Given the description of an element on the screen output the (x, y) to click on. 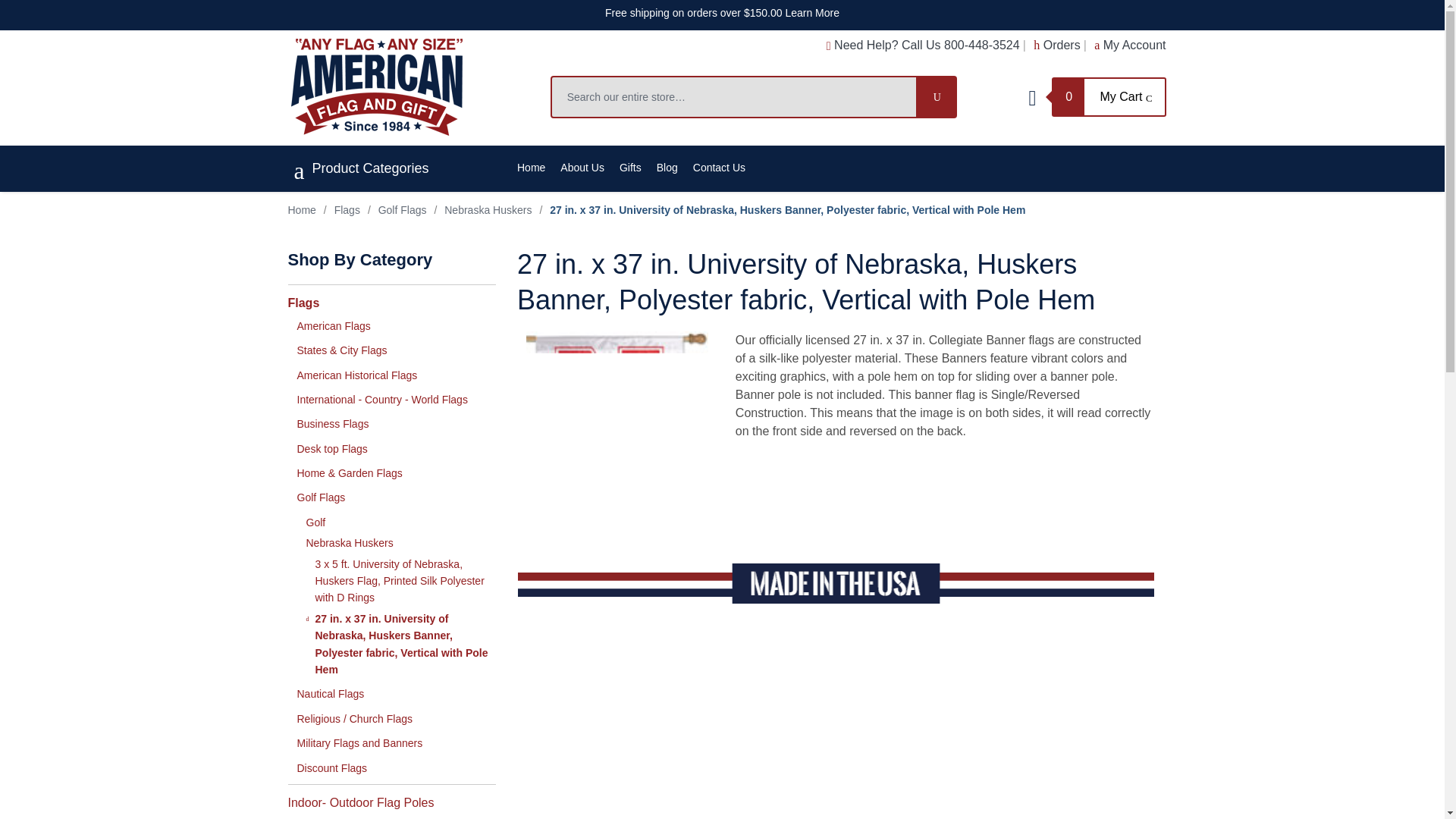
Made In The USA (835, 582)
Search (936, 96)
Some restrictions apply. Click to find out more. (722, 12)
